Given the description of an element on the screen output the (x, y) to click on. 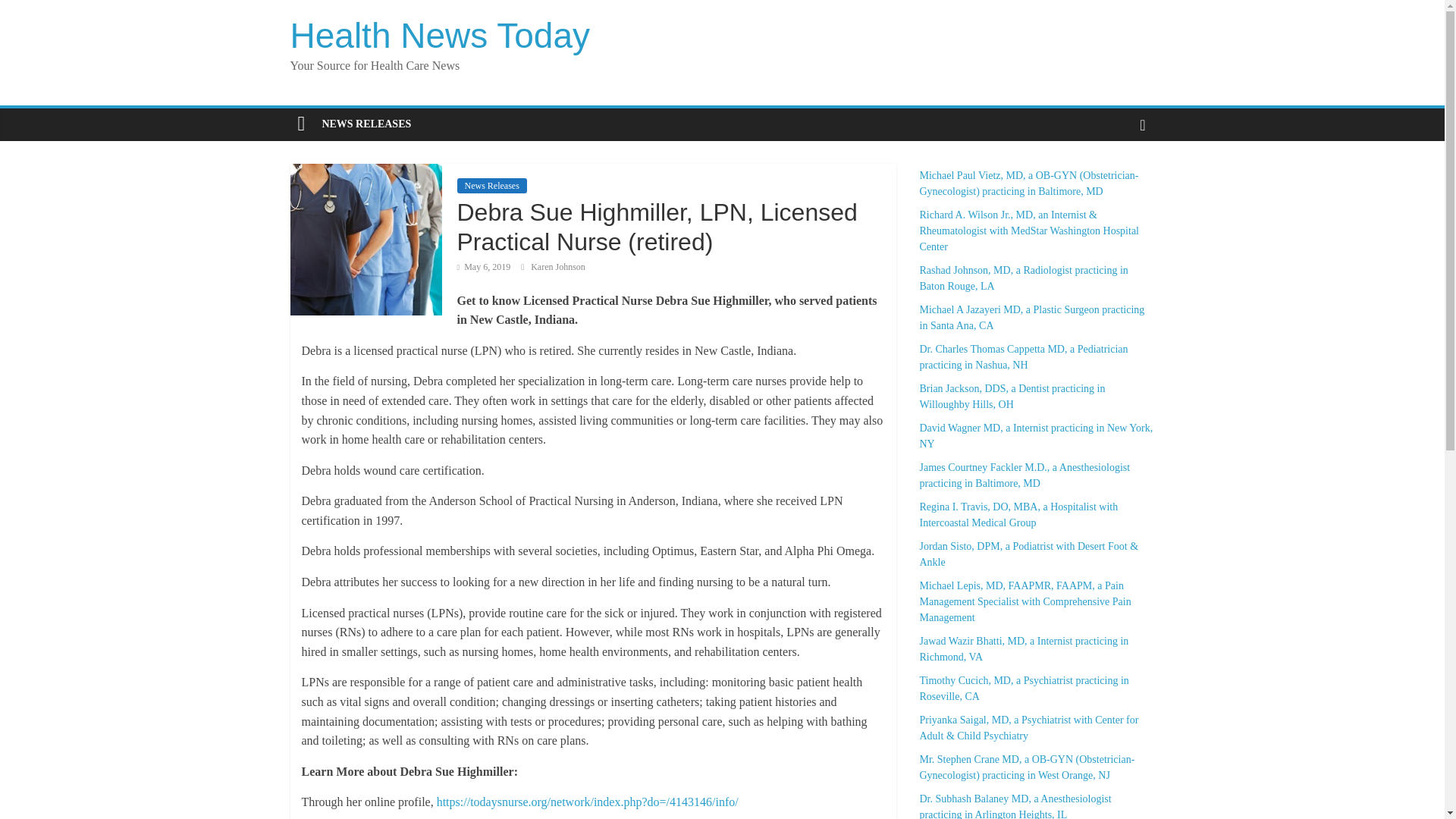
May 6, 2019 (484, 266)
David Wagner MD, a Internist practicing in New York, NY (1036, 436)
View a random post (1142, 124)
News Releases (491, 185)
3:56 pm (484, 266)
Karen Johnson (558, 266)
